Given the description of an element on the screen output the (x, y) to click on. 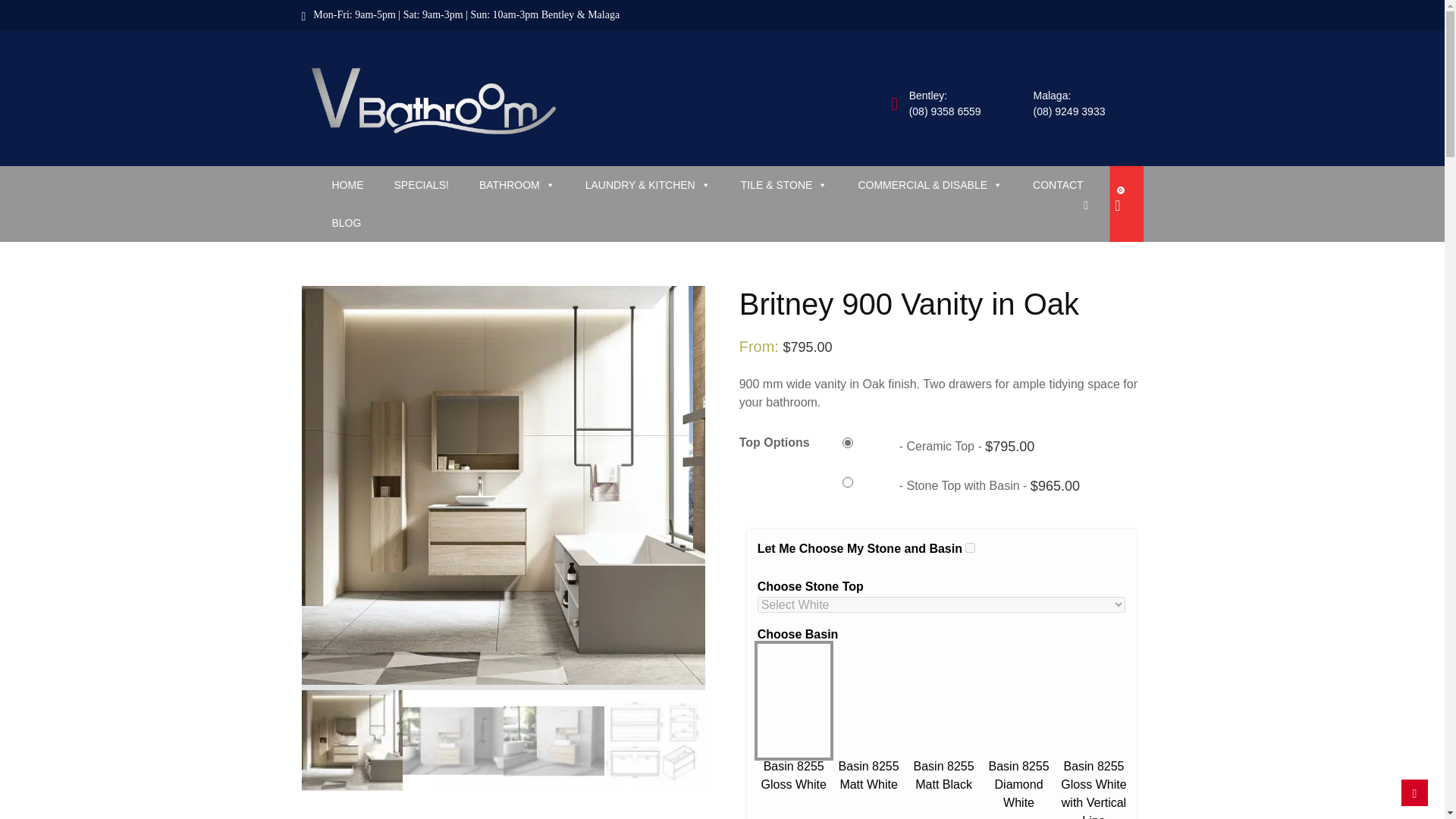
View your shopping cart (1114, 205)
on (970, 547)
Ceramic Top (971, 453)
Stone Top with Basin (971, 492)
SPECIALS! (421, 184)
Stone Top with Basin (879, 486)
HOME (347, 184)
BATHROOM (517, 184)
Ceramic Top (879, 447)
